Given the description of an element on the screen output the (x, y) to click on. 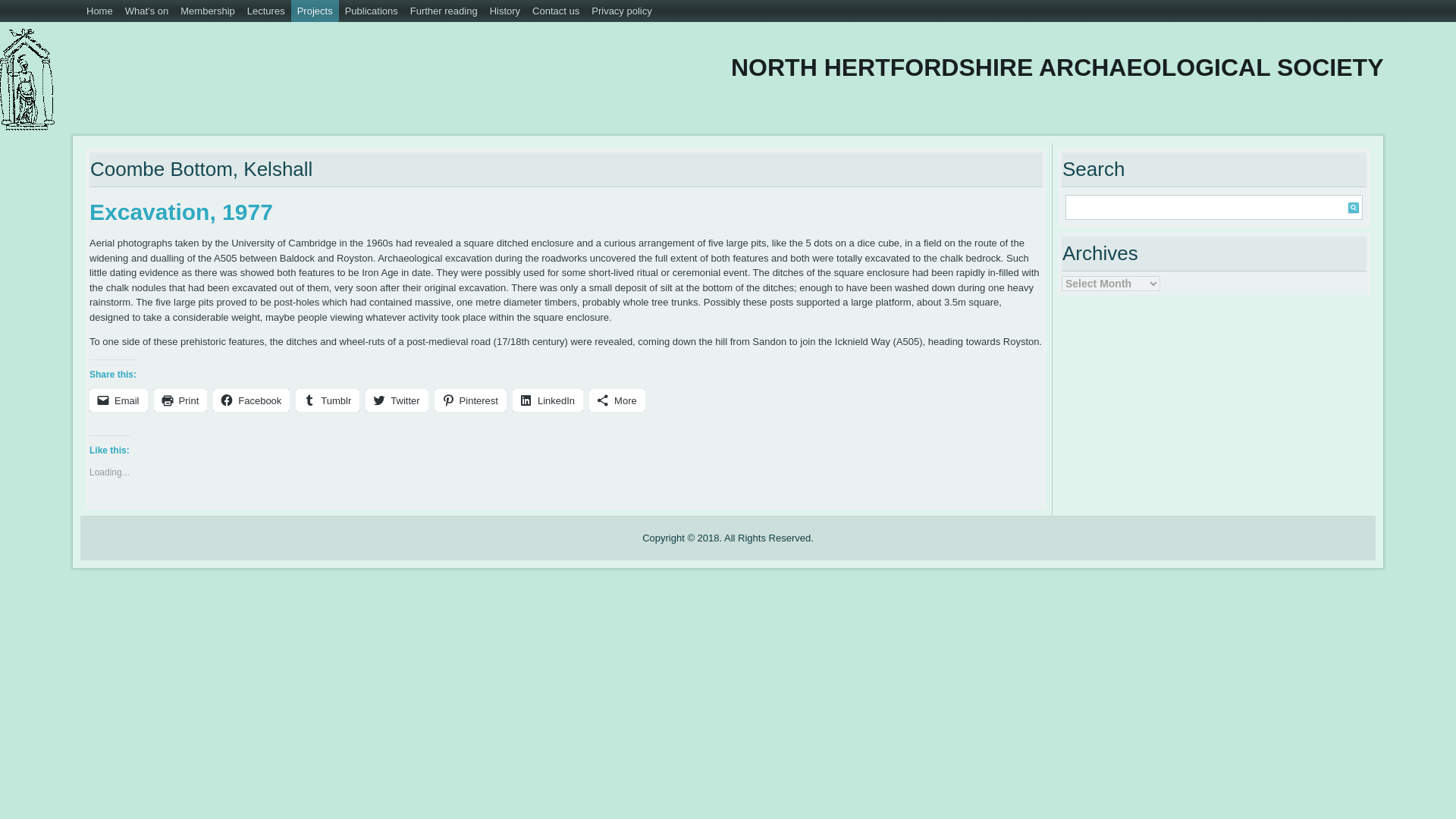
Publications (371, 11)
Membership (207, 11)
Projects (315, 11)
Home (99, 11)
Home (99, 11)
Lectures (266, 11)
Lectures (266, 11)
Further reading (443, 11)
Projects (315, 11)
Membership (207, 11)
